Given the description of an element on the screen output the (x, y) to click on. 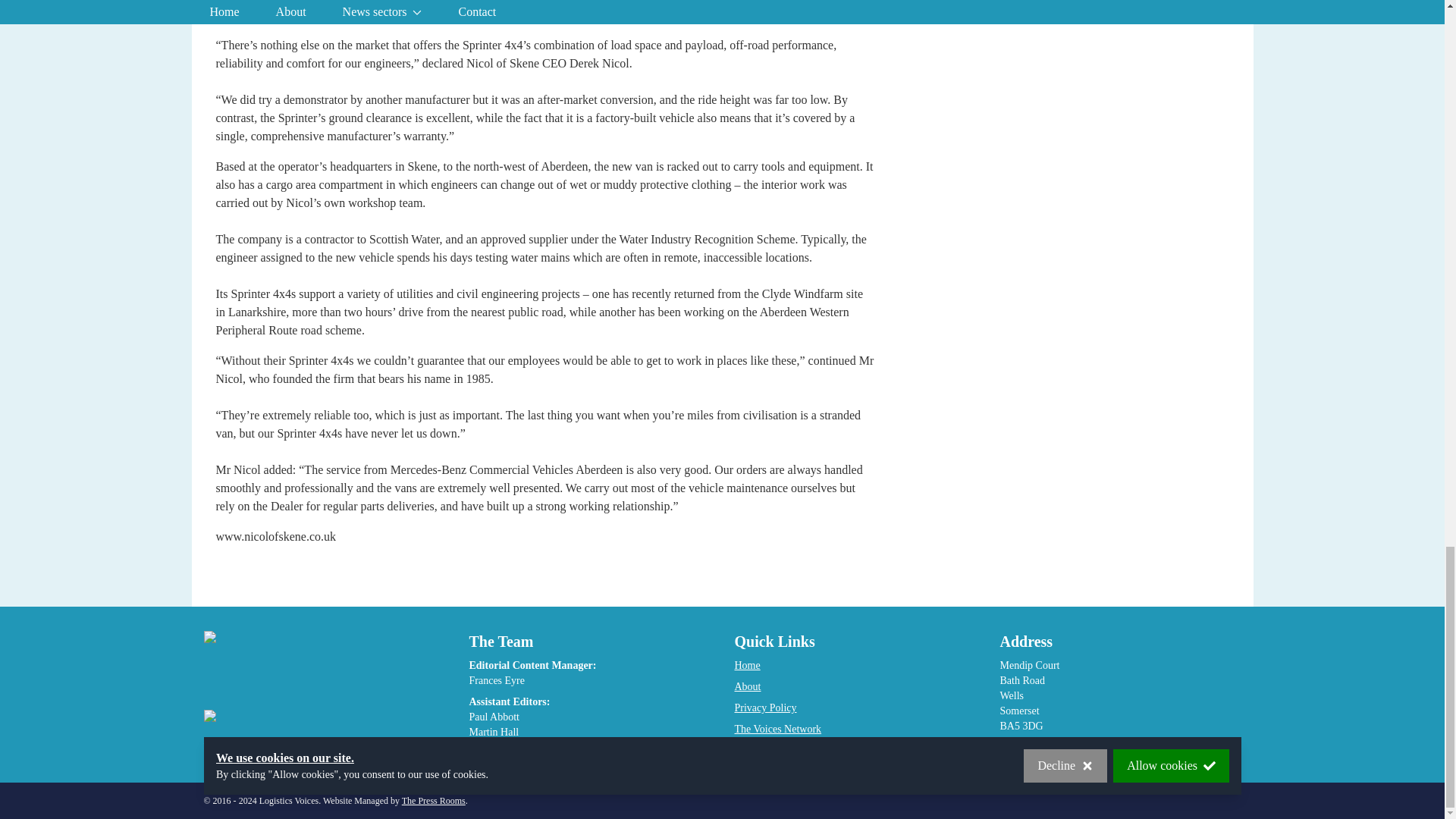
The Press Rooms (433, 800)
The Voices Network (777, 728)
Contact (750, 749)
Home (746, 665)
Privacy Policy (764, 707)
About (746, 686)
